Given the description of an element on the screen output the (x, y) to click on. 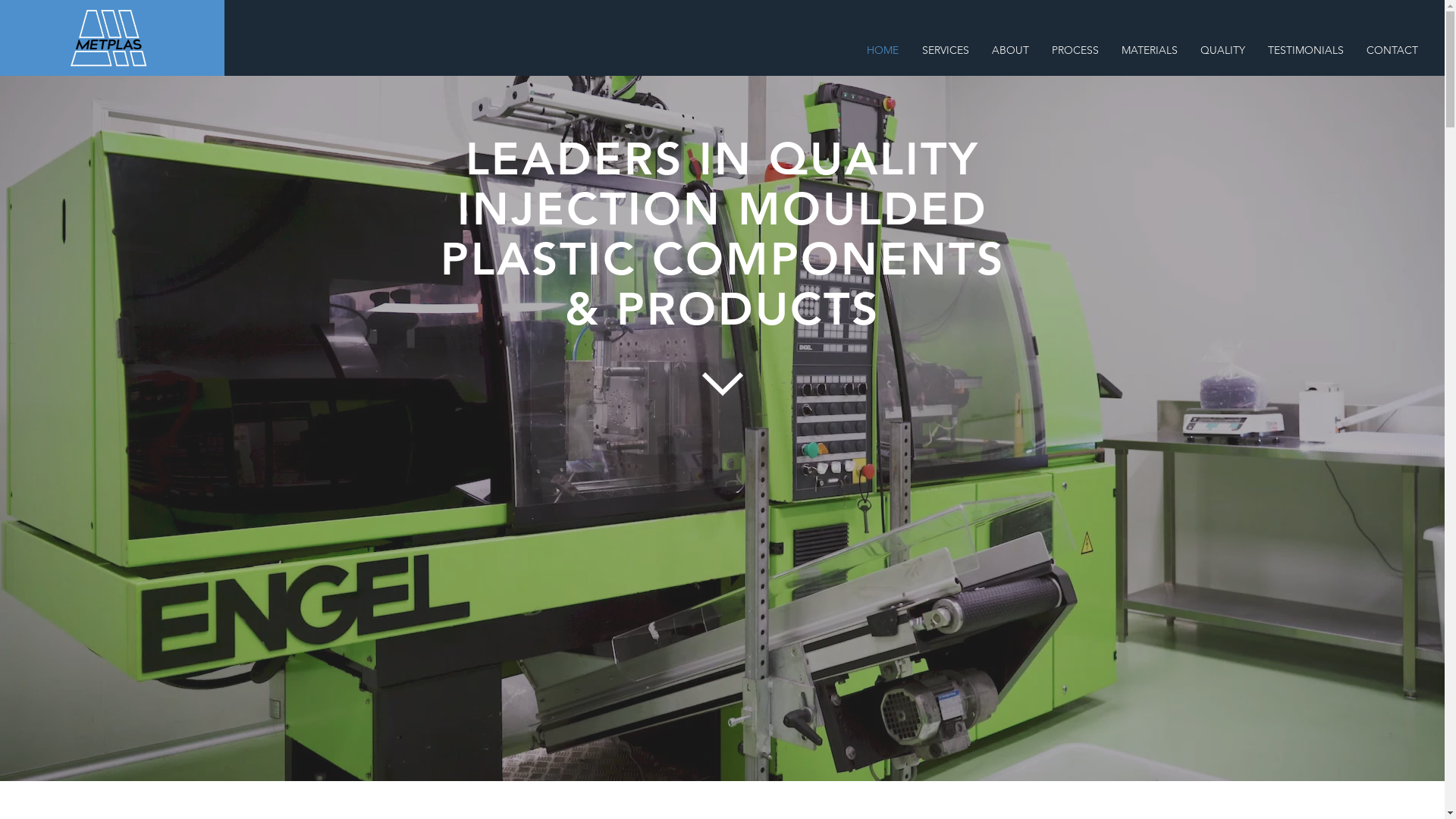
SERVICES Element type: text (945, 50)
CONTACT Element type: text (1392, 50)
PROCESS Element type: text (1075, 50)
TESTIMONIALS Element type: text (1305, 50)
ABOUT Element type: text (1010, 50)
HOME Element type: text (882, 50)
MATERIALS Element type: text (1149, 50)
QUALITY Element type: text (1222, 50)
